Given the description of an element on the screen output the (x, y) to click on. 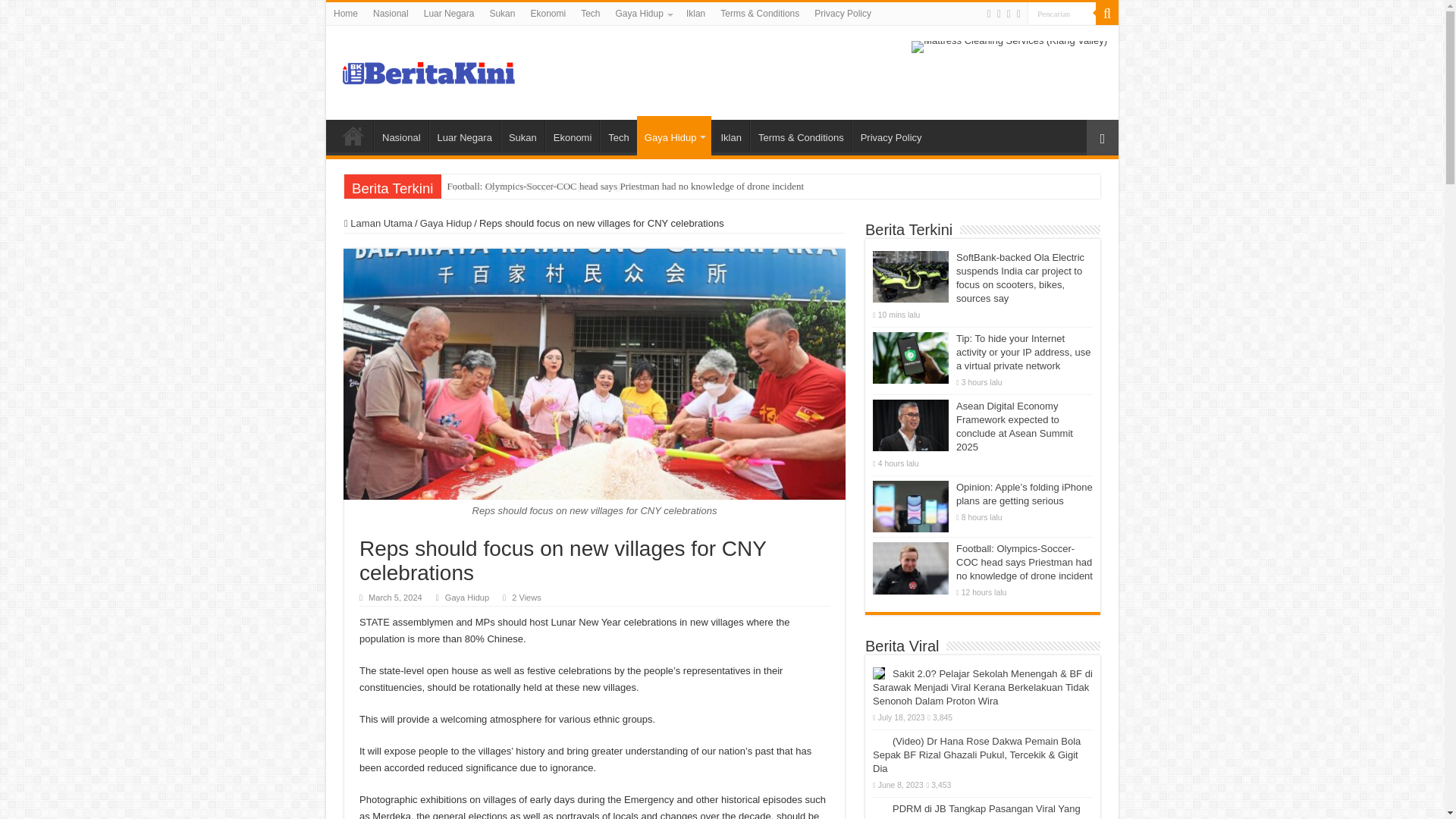
Privacy Policy (842, 13)
Pencarian (1107, 13)
BeritaKini.biz (428, 70)
Nasional (401, 135)
Sukan (501, 13)
Ekonomi (547, 13)
Sukan (522, 135)
Home (352, 135)
Iklan (695, 13)
Gaya Hidup (643, 13)
Luar Negara (448, 13)
Pencarian (1061, 13)
Home (345, 13)
Pencarian (1061, 13)
Pencarian (1061, 13)
